Given the description of an element on the screen output the (x, y) to click on. 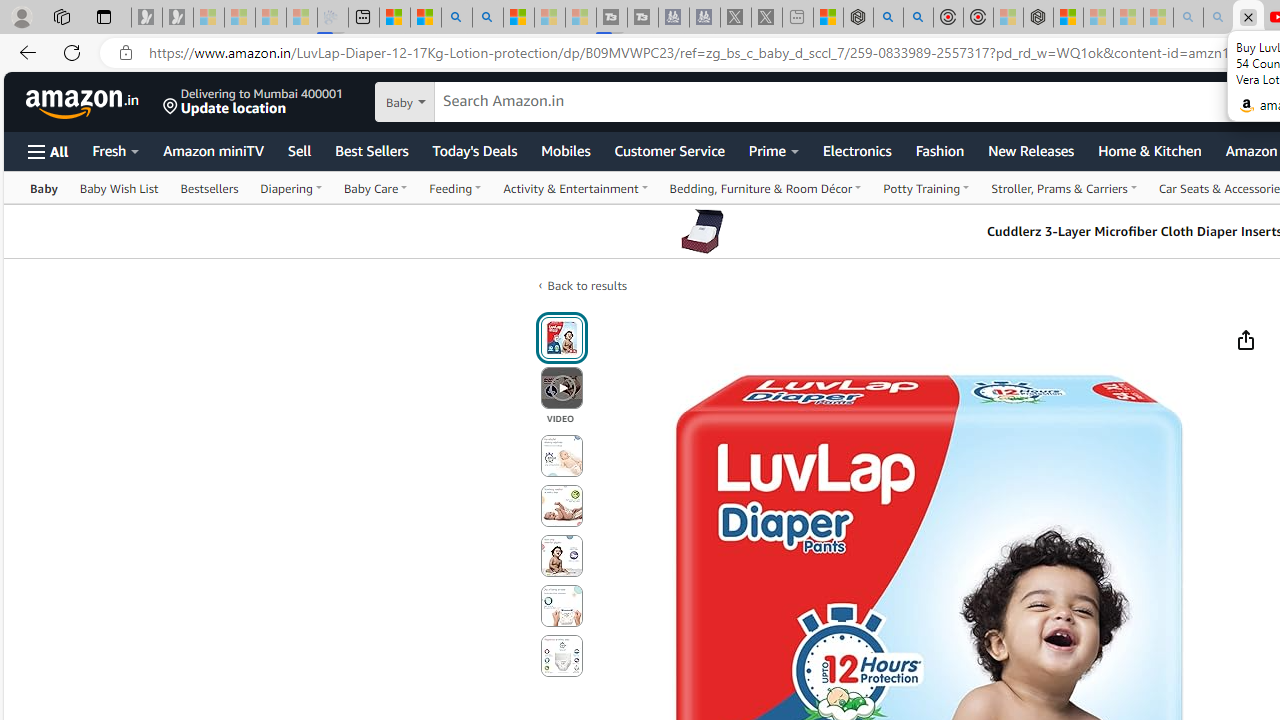
Nordace - Nordace Siena Is Not An Ordinary Backpack (1038, 17)
poe ++ standard - Search (918, 17)
Newsletter Sign Up - Sleeping (177, 17)
Search (487, 17)
X - Sleeping (766, 17)
poe - Search (888, 17)
Nordace - Summer Adventures 2024 (857, 17)
Microsoft Start - Sleeping (549, 17)
